Given the description of an element on the screen output the (x, y) to click on. 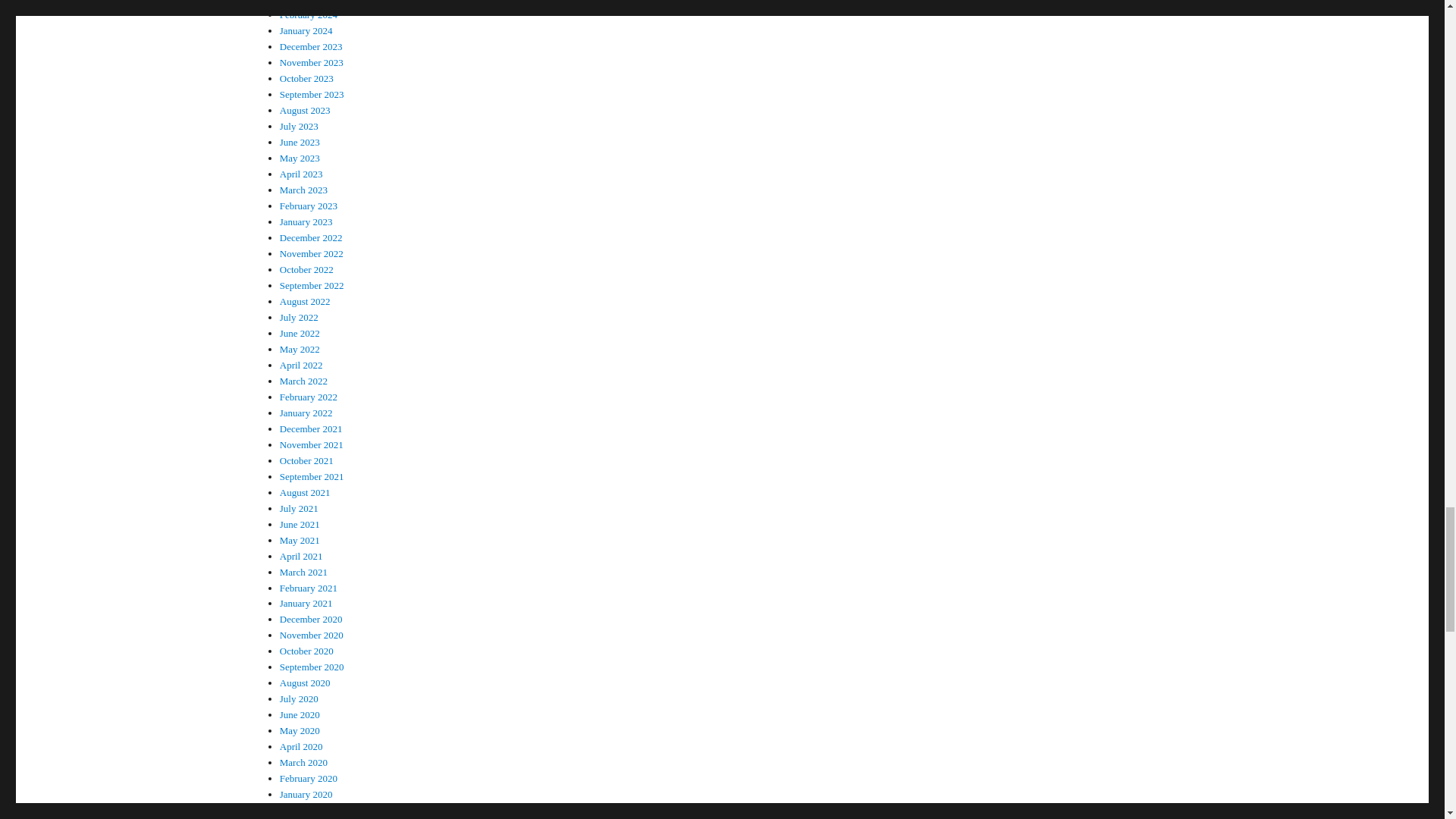
July 2023 (298, 125)
November 2023 (311, 61)
December 2023 (310, 46)
February 2024 (308, 14)
September 2023 (311, 93)
August 2023 (304, 110)
March 2024 (303, 2)
January 2024 (306, 30)
October 2023 (306, 78)
